Given the description of an element on the screen output the (x, y) to click on. 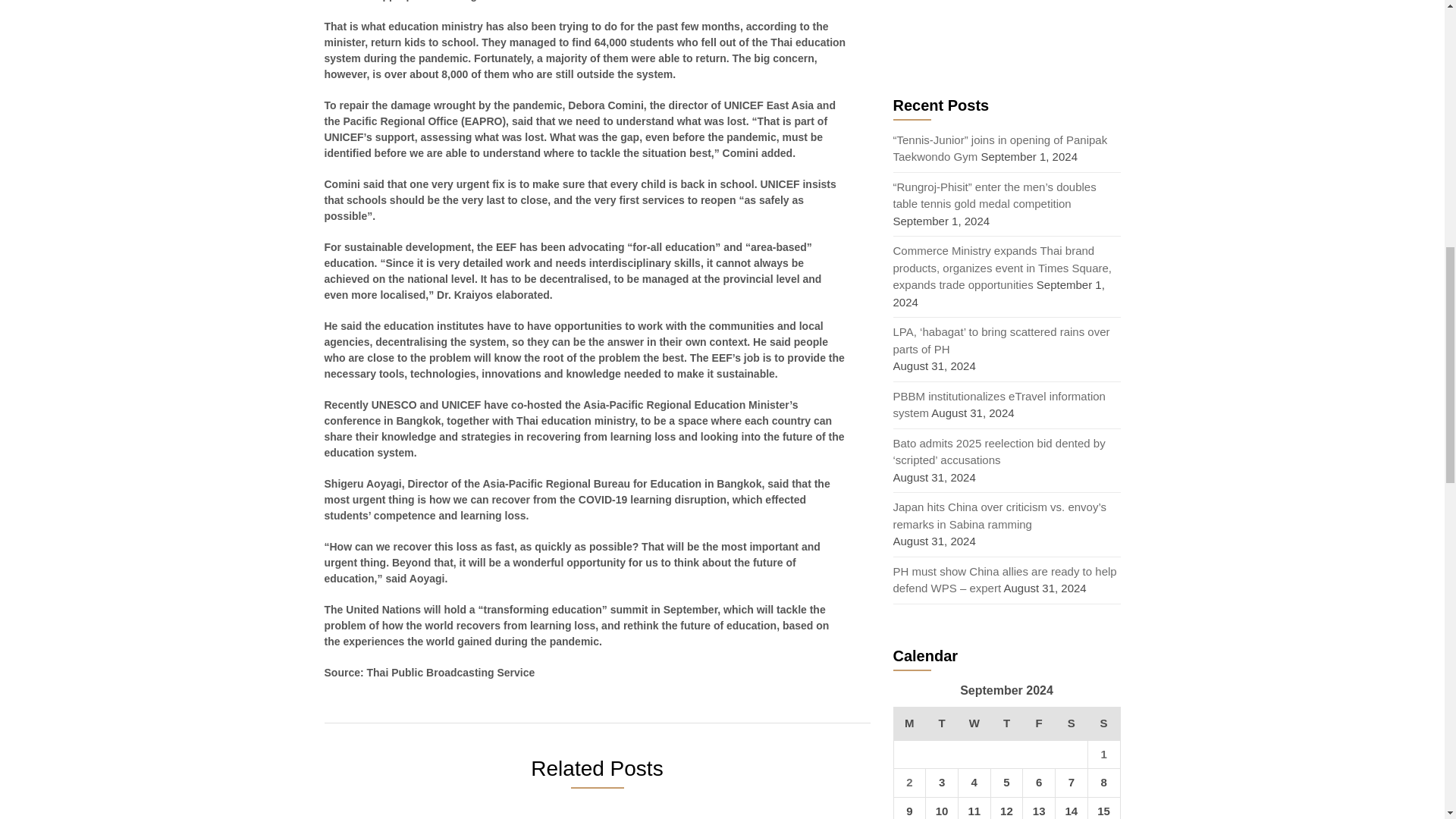
PBBM institutionalizes eTravel information system (999, 404)
Monday (909, 724)
Thai, Japanese animation rooted in nationalism (415, 815)
Tuesday (942, 724)
Thursday (1006, 724)
Thai, Japanese animation rooted in nationalism (415, 815)
Friday (1039, 724)
